Given the description of an element on the screen output the (x, y) to click on. 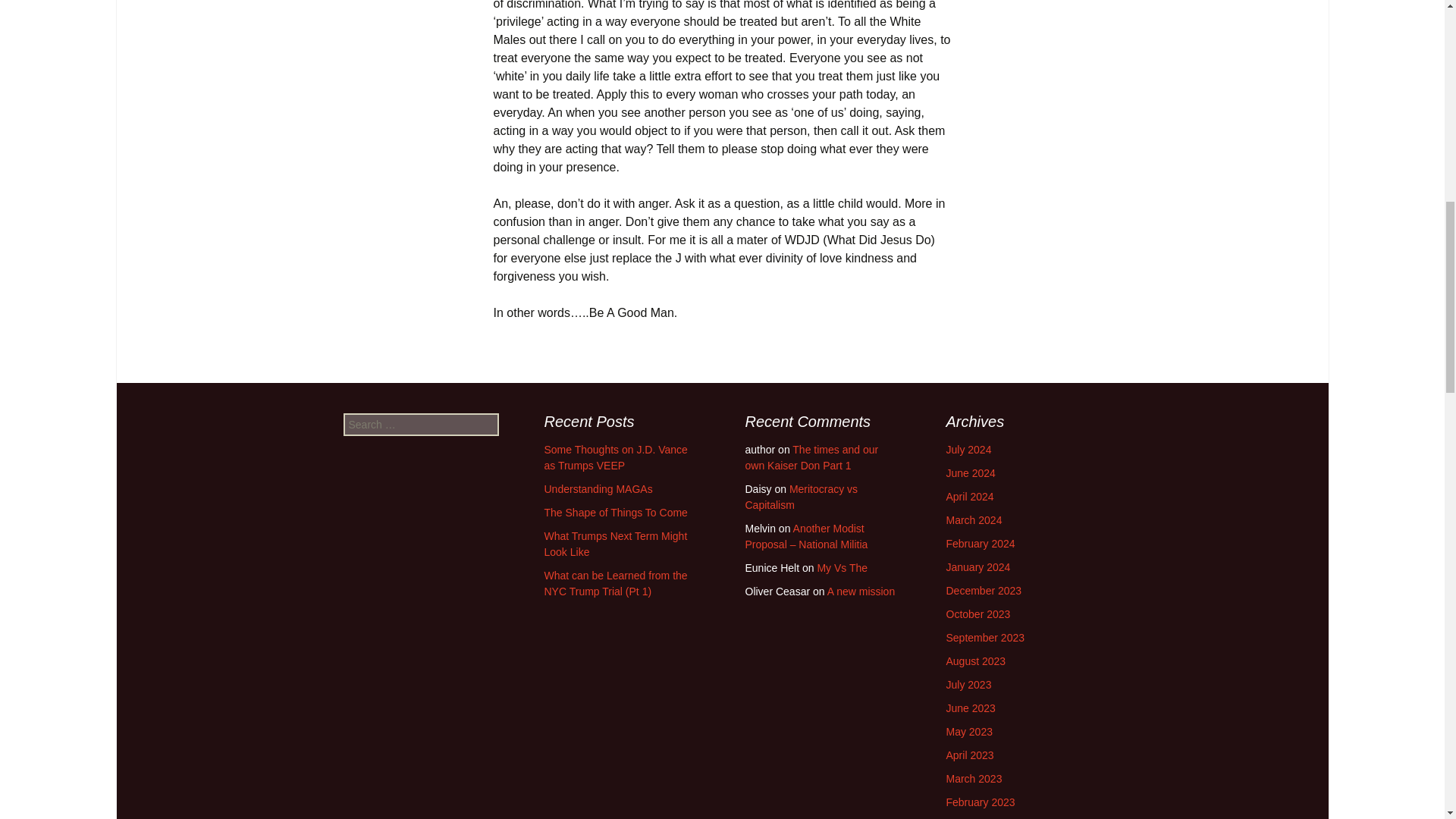
January 2024 (978, 567)
June 2023 (970, 707)
Some Thoughts on J.D. Vance as Trumps VEEP (615, 457)
March 2024 (974, 520)
February 2024 (980, 543)
July 2023 (968, 684)
Meritocracy vs Capitalism (800, 497)
What Trumps Next Term Might Look Like (615, 543)
My Vs The (841, 567)
October 2023 (978, 613)
July 2024 (968, 449)
December 2023 (984, 590)
A new mission (861, 591)
May 2023 (969, 731)
August 2023 (976, 661)
